Given the description of an element on the screen output the (x, y) to click on. 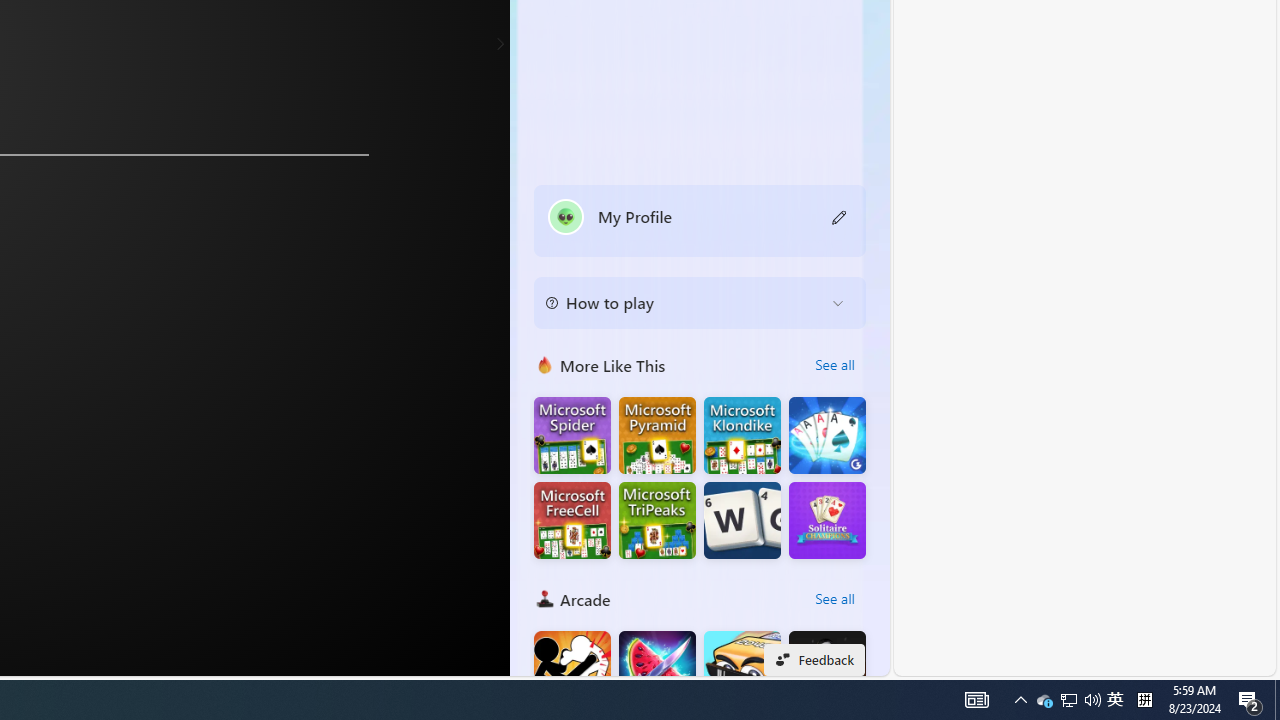
Class: control (499, 43)
Solitaire Champions (827, 520)
Class: button edit-icon (839, 216)
Microsoft Pyramid Solitaire (657, 435)
Cubes2048 (742, 669)
Microsoft Spider Solitaire (571, 435)
Microsoft FreeCell Solitaire (571, 520)
Microsoft TriPeaks Solitaire (657, 520)
Solitaire Gold (827, 435)
Stickman Fighter : Mega Brawl (571, 669)
Hunter Hitman (827, 669)
How to play (683, 302)
See all (834, 598)
See all (834, 598)
